Given the description of an element on the screen output the (x, y) to click on. 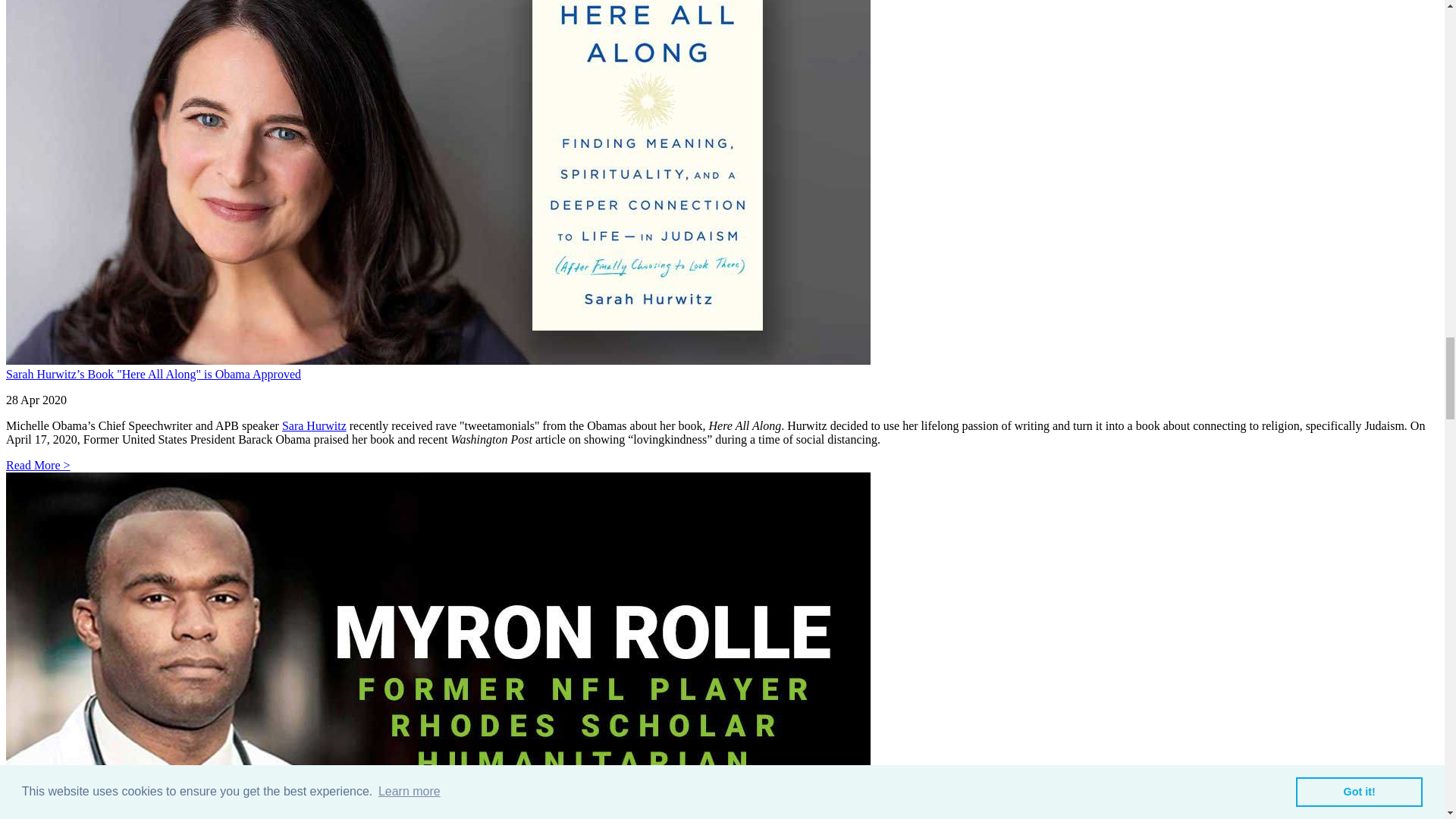
Sara Hurwitz (314, 425)
Sarah Hurwitz (314, 425)
